Given the description of an element on the screen output the (x, y) to click on. 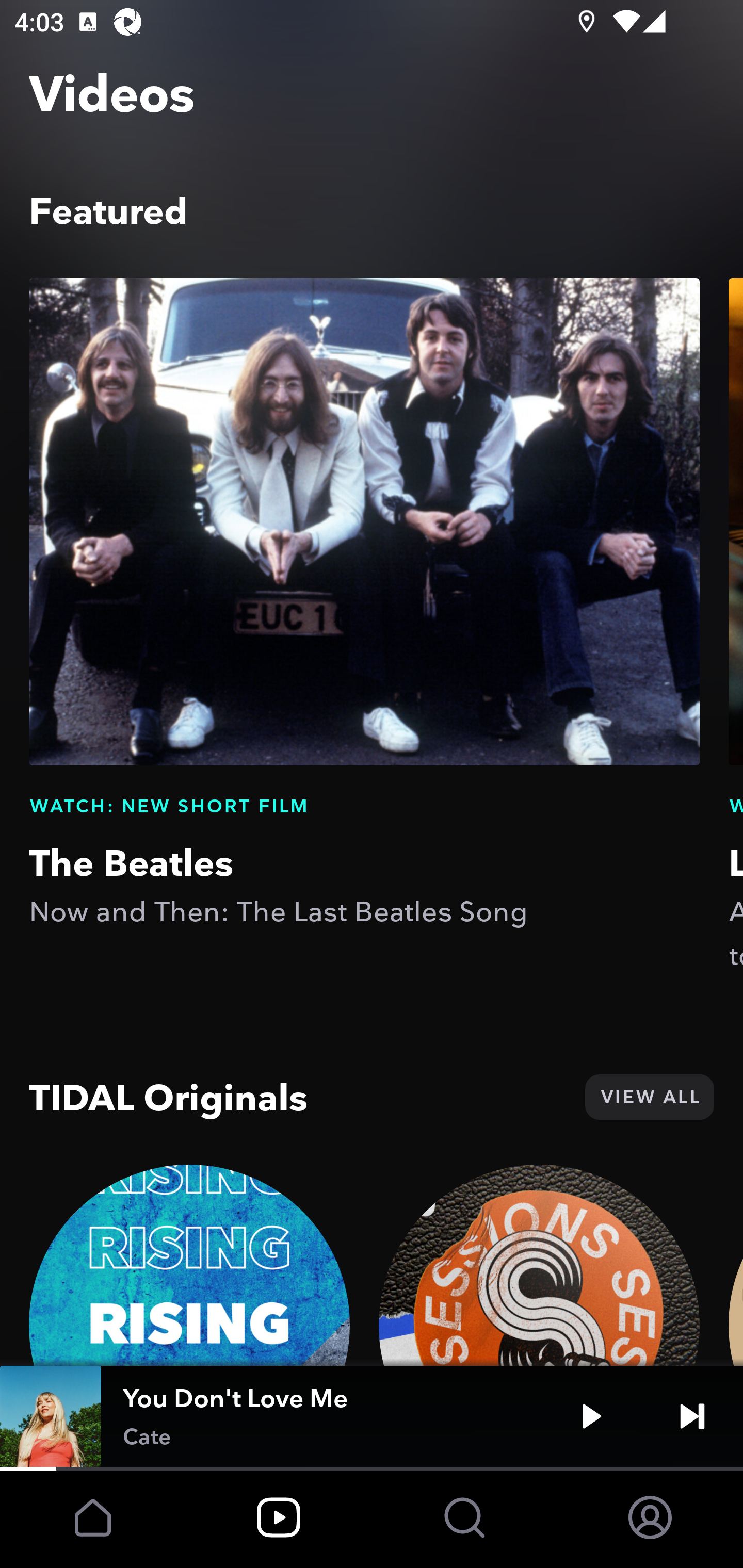
VIEW ALL (649, 1096)
You Don't Love Me Cate Play (371, 1416)
Play (590, 1416)
